Given the description of an element on the screen output the (x, y) to click on. 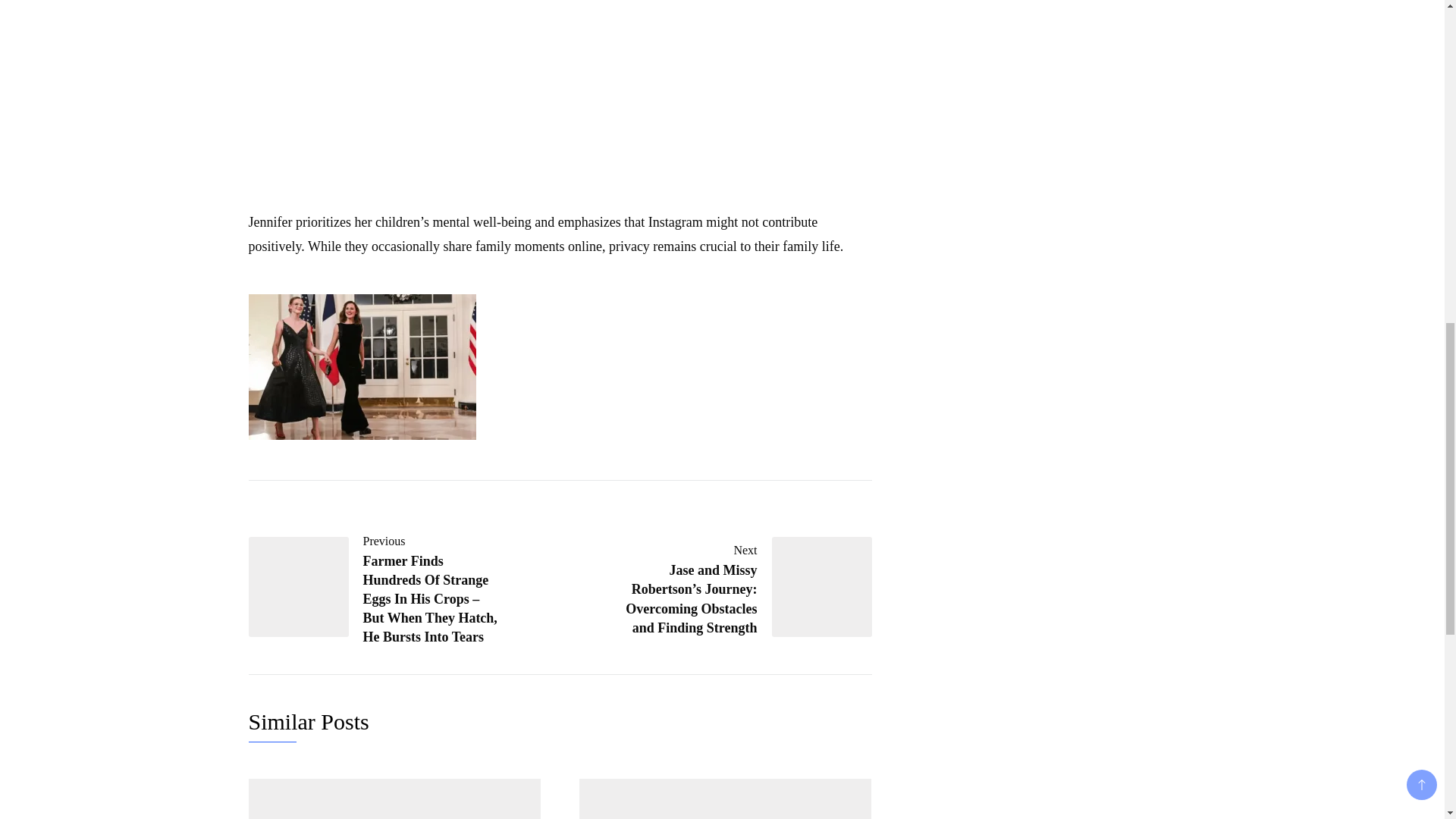
Advertisement (560, 97)
